Given the description of an element on the screen output the (x, y) to click on. 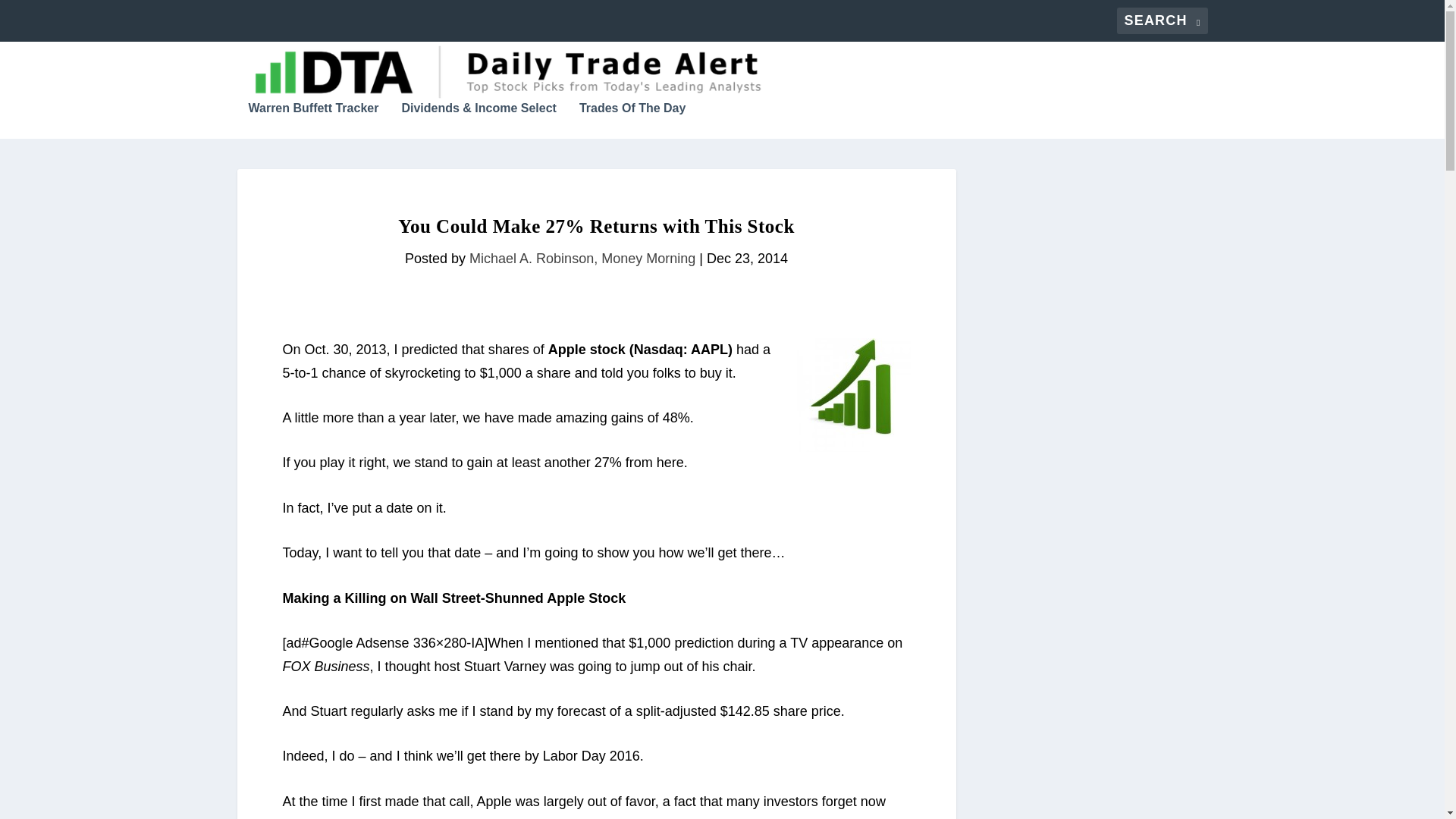
Search for: (1161, 20)
Michael A. Robinson, Money Morning (581, 257)
Trades Of The Day (632, 120)
Warren Buffett Tracker (313, 120)
Posts by Michael A. Robinson, Money Morning (581, 257)
